Given the description of an element on the screen output the (x, y) to click on. 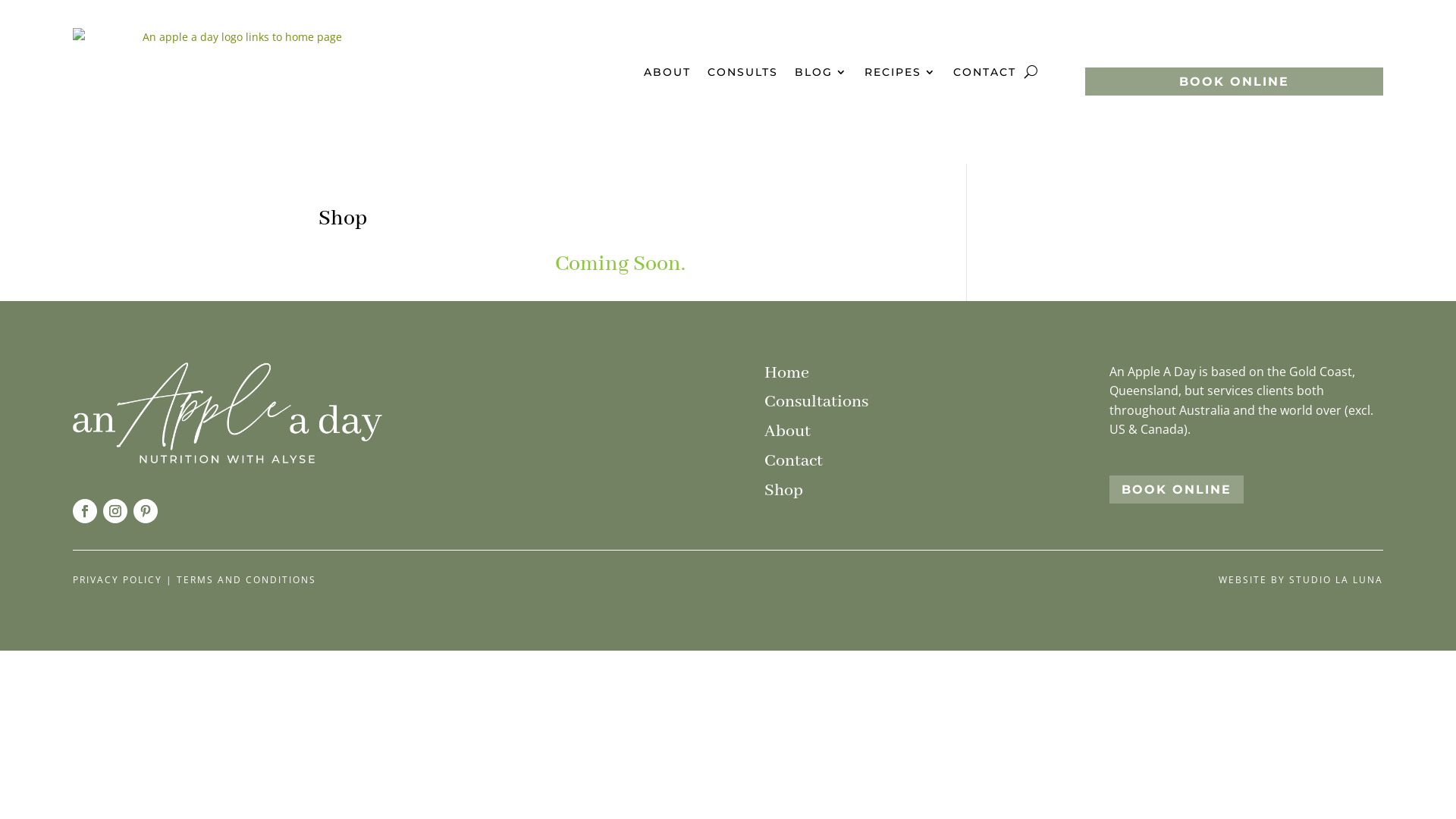
BOOK ONLINE Element type: text (1234, 81)
Follow on Pinterest Element type: hover (145, 510)
BOOK ONLINE Element type: text (1176, 489)
Follow on Instagram Element type: hover (115, 510)
RECIPES Element type: text (900, 72)
Consultations Element type: text (816, 401)
TERMS AND CONDITIONS Element type: text (246, 579)
CONSULTS Element type: text (742, 72)
BLOG Element type: text (820, 72)
Home Element type: text (786, 372)
About Element type: text (787, 431)
Shop Element type: text (783, 490)
CONTACT Element type: text (984, 72)
WEBSITE BY STUDIO LA LUNA Element type: text (1300, 579)
PRIVACY POLICY Element type: text (117, 579)
Contact Element type: text (793, 460)
ABOUT Element type: text (666, 72)
An Apple A Day Logo White Element type: hover (227, 412)
Follow on Facebook Element type: hover (84, 510)
